Given the description of an element on the screen output the (x, y) to click on. 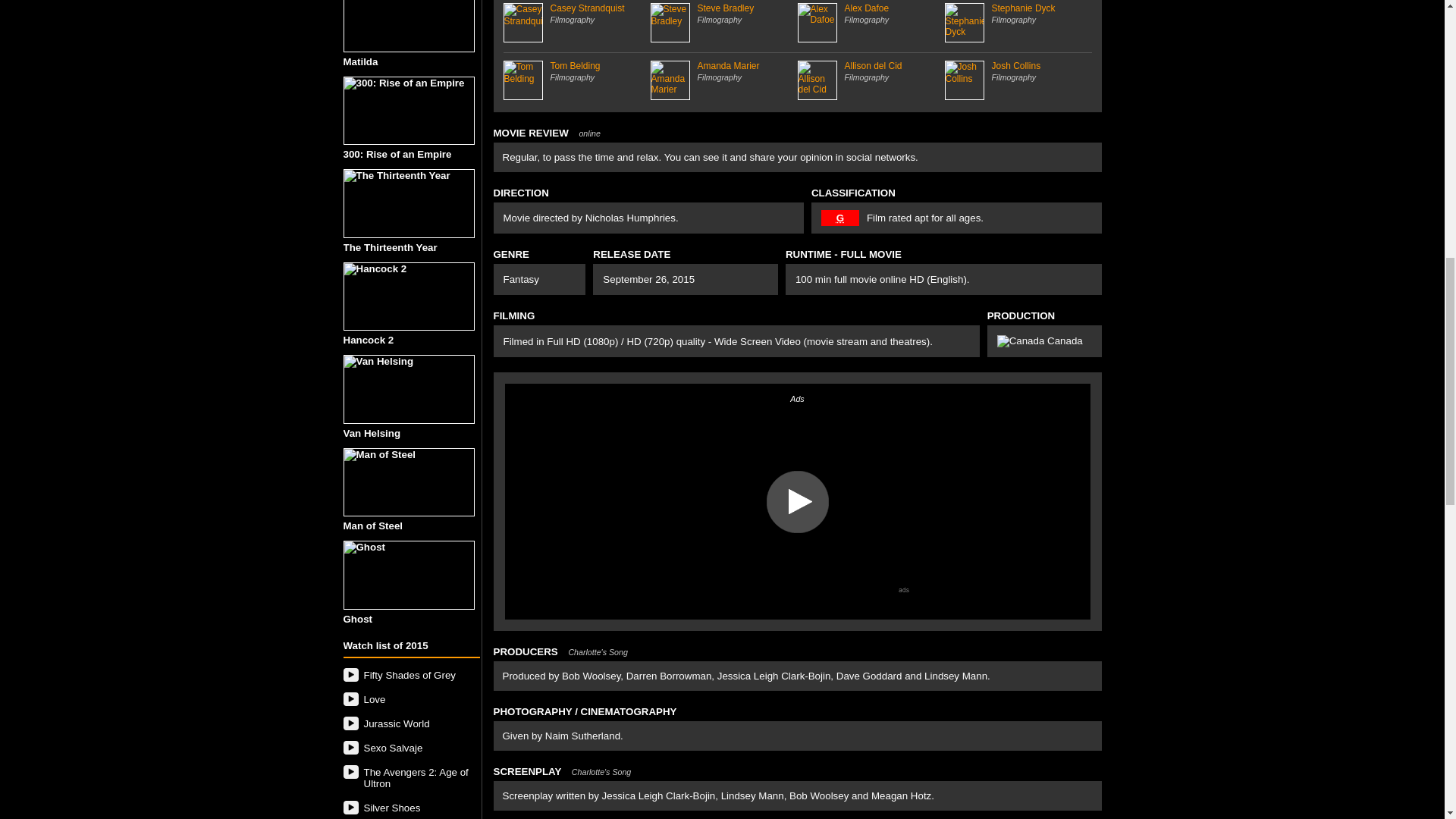
Fifty Shades of Grey (410, 675)
Hancock 2 (410, 304)
Love, online movie (410, 699)
Ghost, movie (408, 574)
Matilda, movie (408, 26)
Sexo Salvaje, online movie (410, 748)
Hancock 2, movie (408, 296)
Van Helsing (410, 396)
The Thirteenth Year (410, 210)
Love (410, 699)
Man of Steel, movie (408, 481)
Jurassic World, online movie (410, 723)
Fifty Shades of Grey, online movie (410, 675)
The Thirteenth Year, movie (408, 203)
Van Helsing, movie (408, 389)
